Given the description of an element on the screen output the (x, y) to click on. 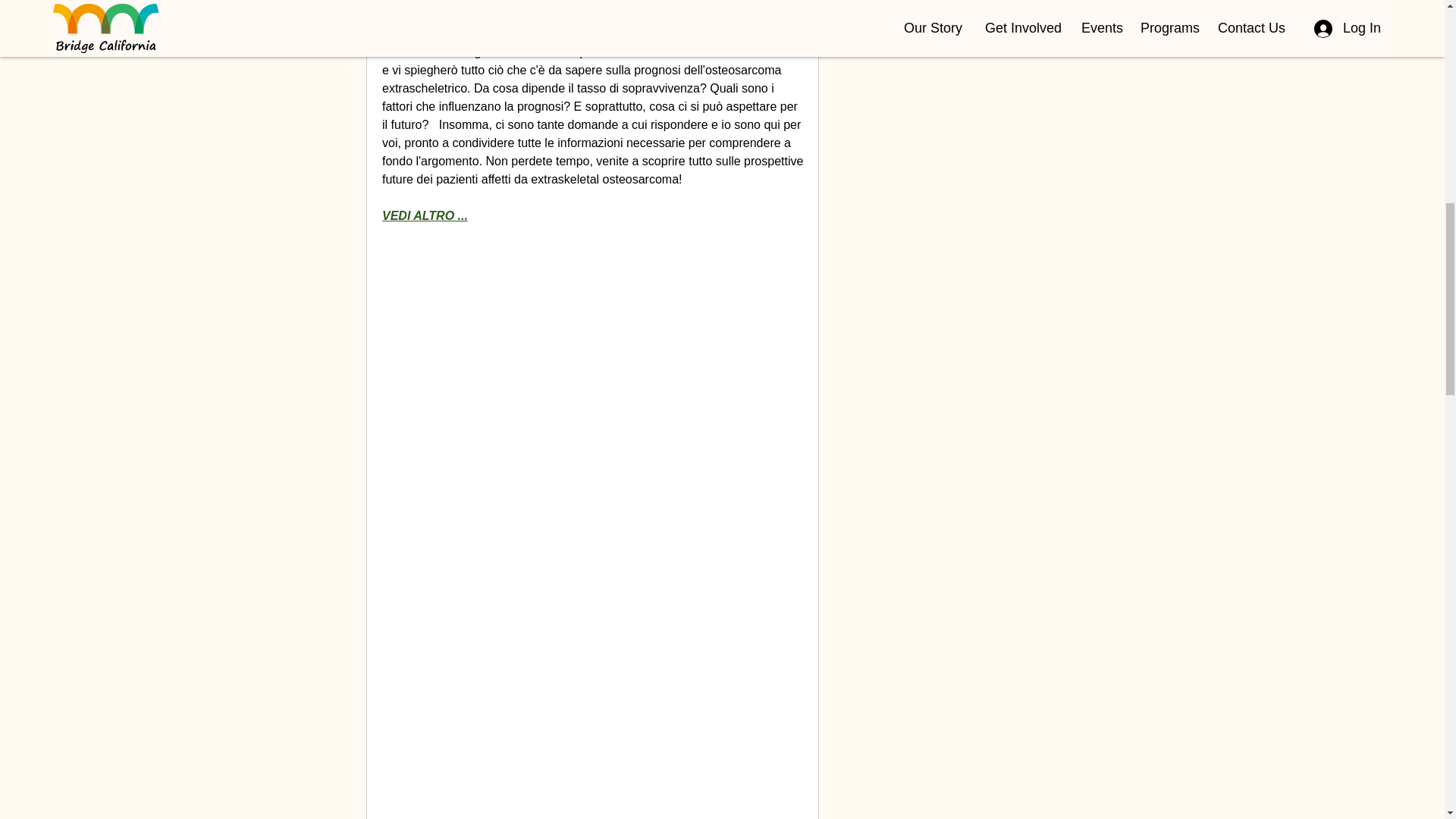
VEDI ALTRO ... (424, 215)
